Given the description of an element on the screen output the (x, y) to click on. 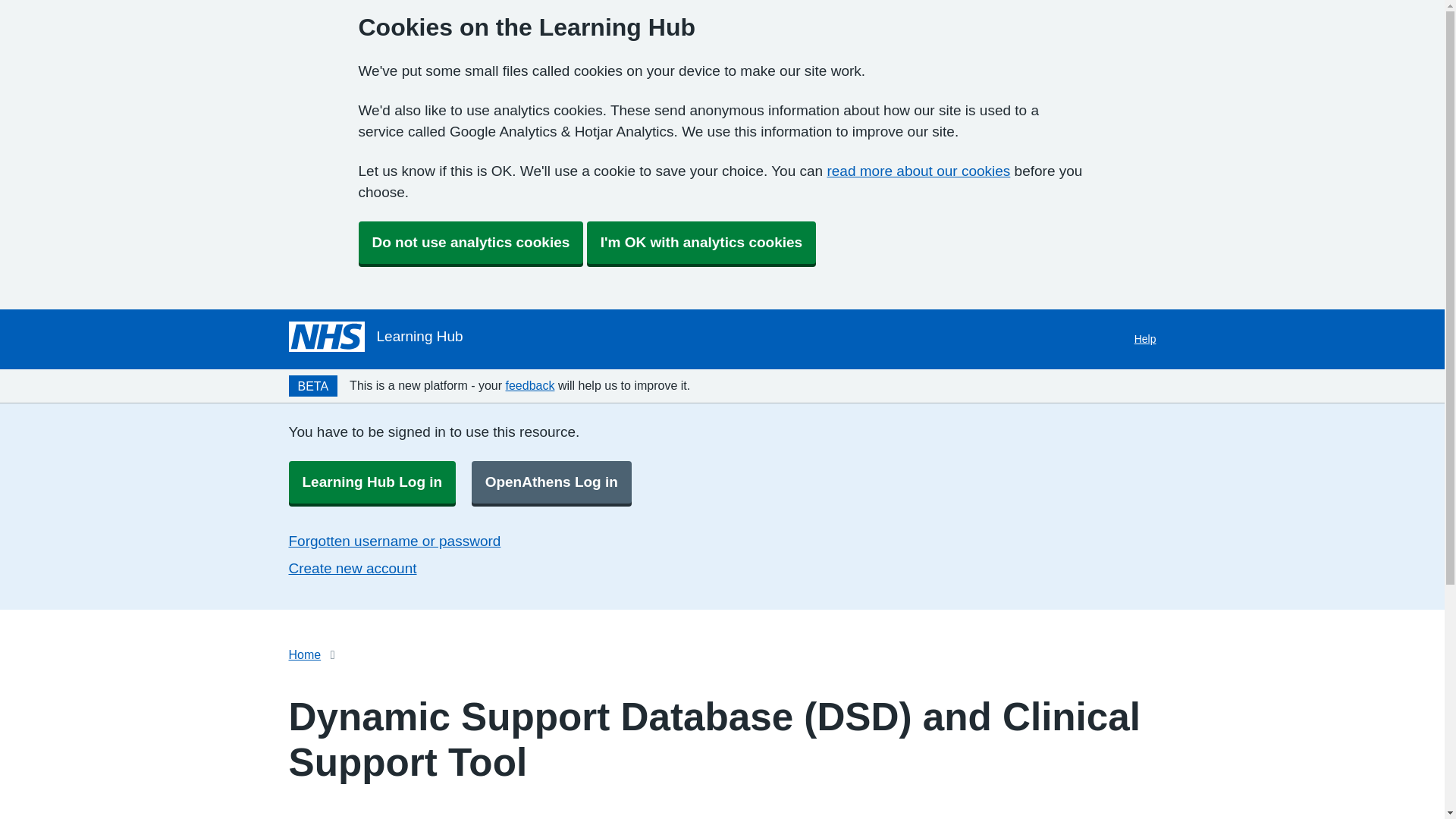
Create new account (352, 568)
I'm OK with analytics cookies (700, 242)
OpenAthens Log in (551, 482)
Learning Hub Log in (371, 482)
Forgotten username or password (394, 540)
Home (304, 654)
feedback (529, 385)
Do not use analytics cookies (470, 242)
read more about our cookies (918, 170)
Help (1145, 339)
